Given the description of an element on the screen output the (x, y) to click on. 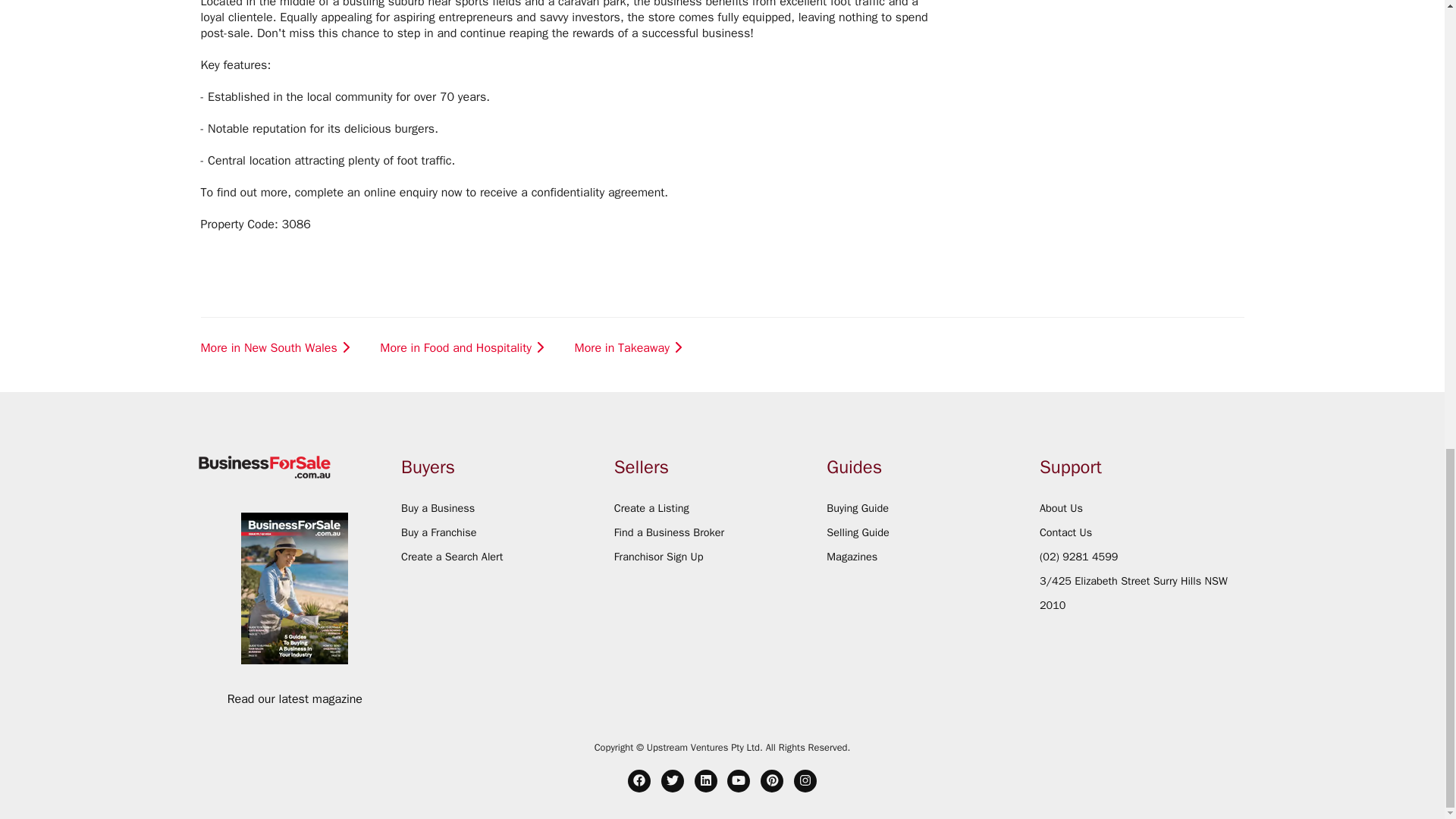
More in Food and Hospitality (463, 348)
More in Takeaway (630, 348)
More in New South Wales (276, 348)
